Given the description of an element on the screen output the (x, y) to click on. 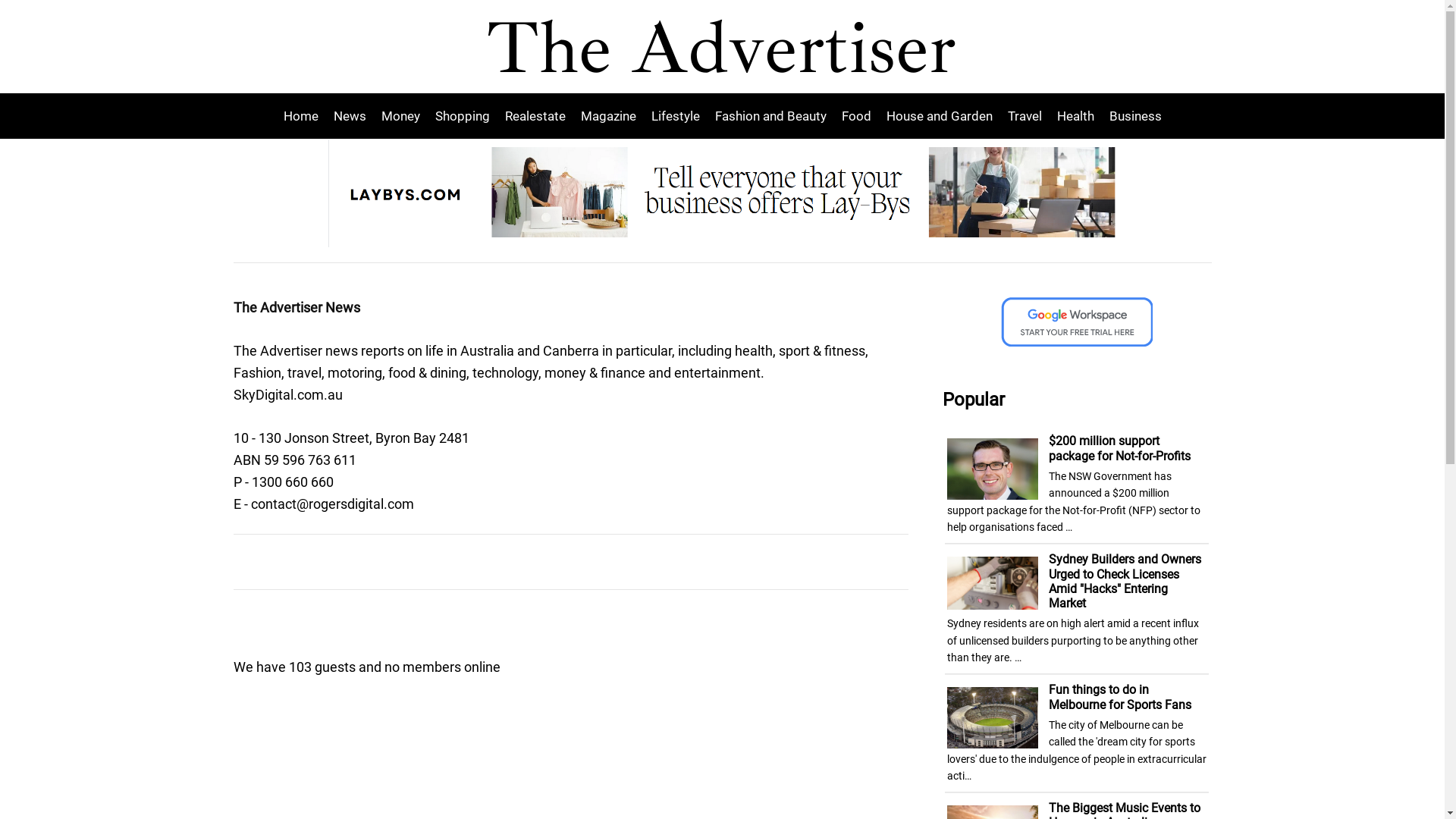
Business Element type: text (1131, 115)
House and Garden Element type: text (938, 115)
Fashion and Beauty Element type: text (769, 115)
$200 million support package for Not-for-Profits Element type: text (1119, 447)
Money Element type: text (399, 115)
Home Element type: text (304, 115)
Magazine Element type: text (608, 115)
Fun things to do in Melbourne for Sports Fans Element type: text (1119, 696)
News Element type: text (349, 115)
Shopping Element type: text (462, 115)
Realestate Element type: text (535, 115)
Food Element type: text (856, 115)
Health Element type: text (1075, 115)
Travel Element type: text (1023, 115)
Lifestyle Element type: text (674, 115)
